Given the description of an element on the screen output the (x, y) to click on. 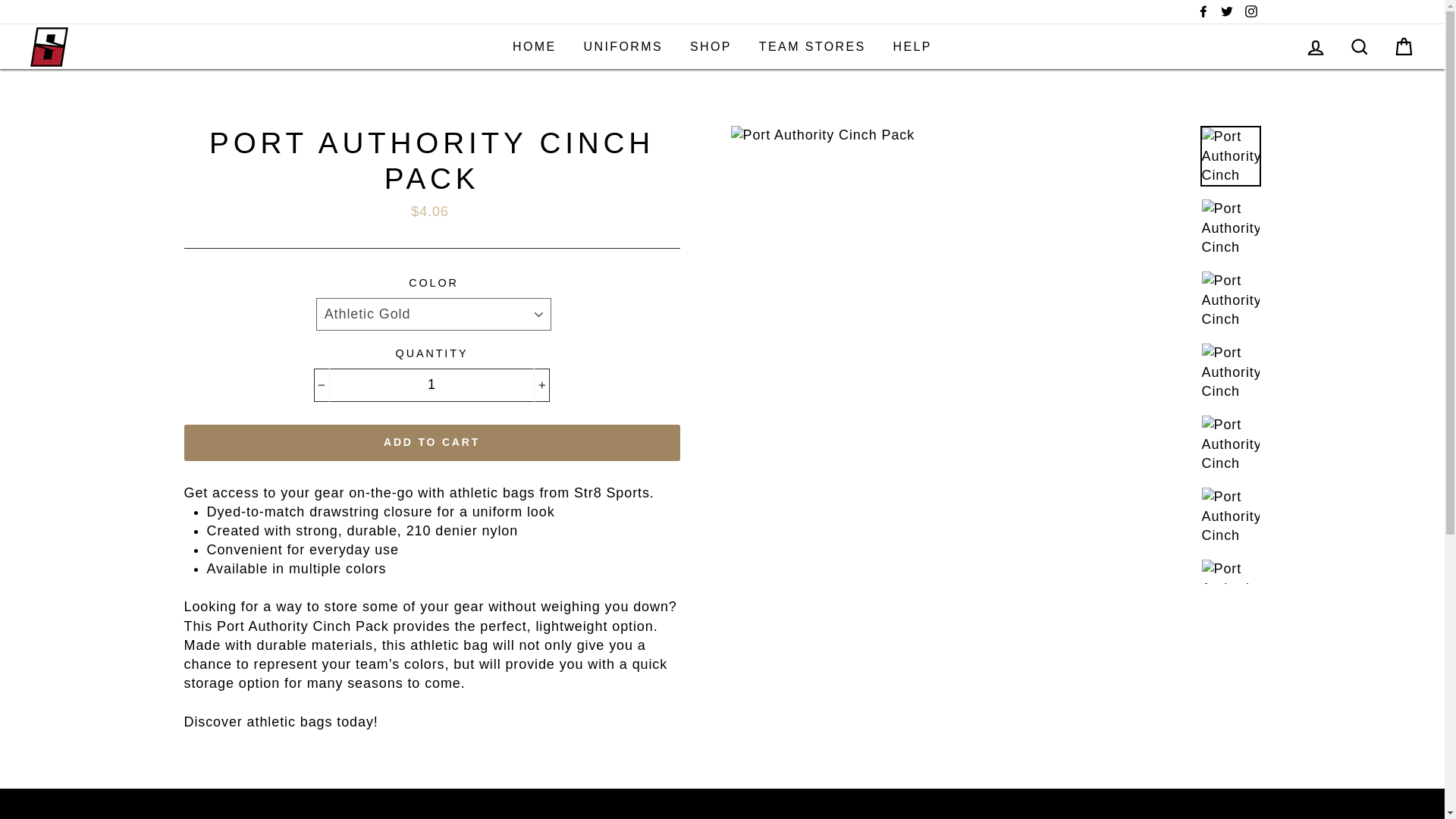
1 (432, 384)
